Given the description of an element on the screen output the (x, y) to click on. 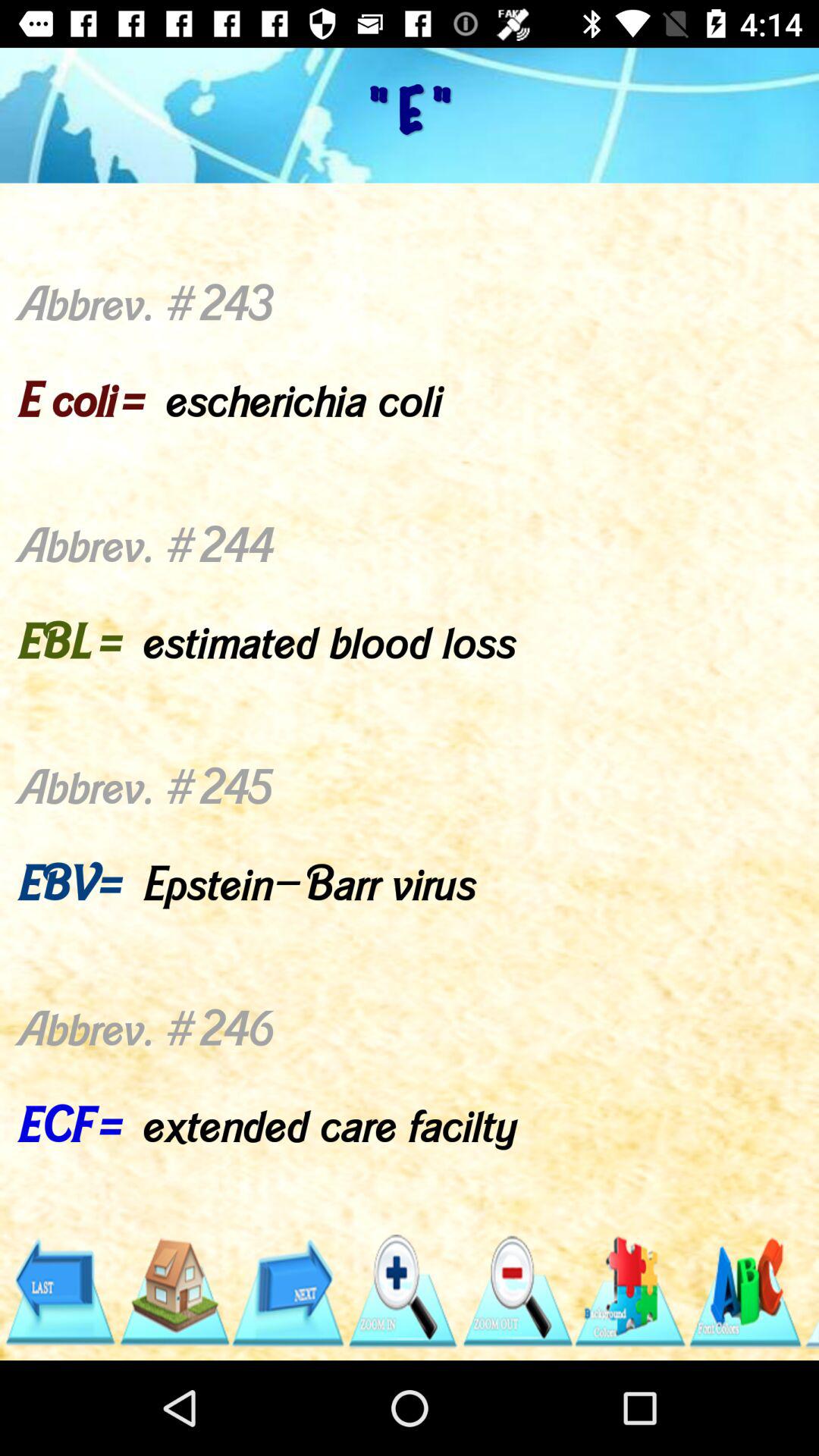
open icon below abbrev 	243	 	e app (810, 1291)
